Given the description of an element on the screen output the (x, y) to click on. 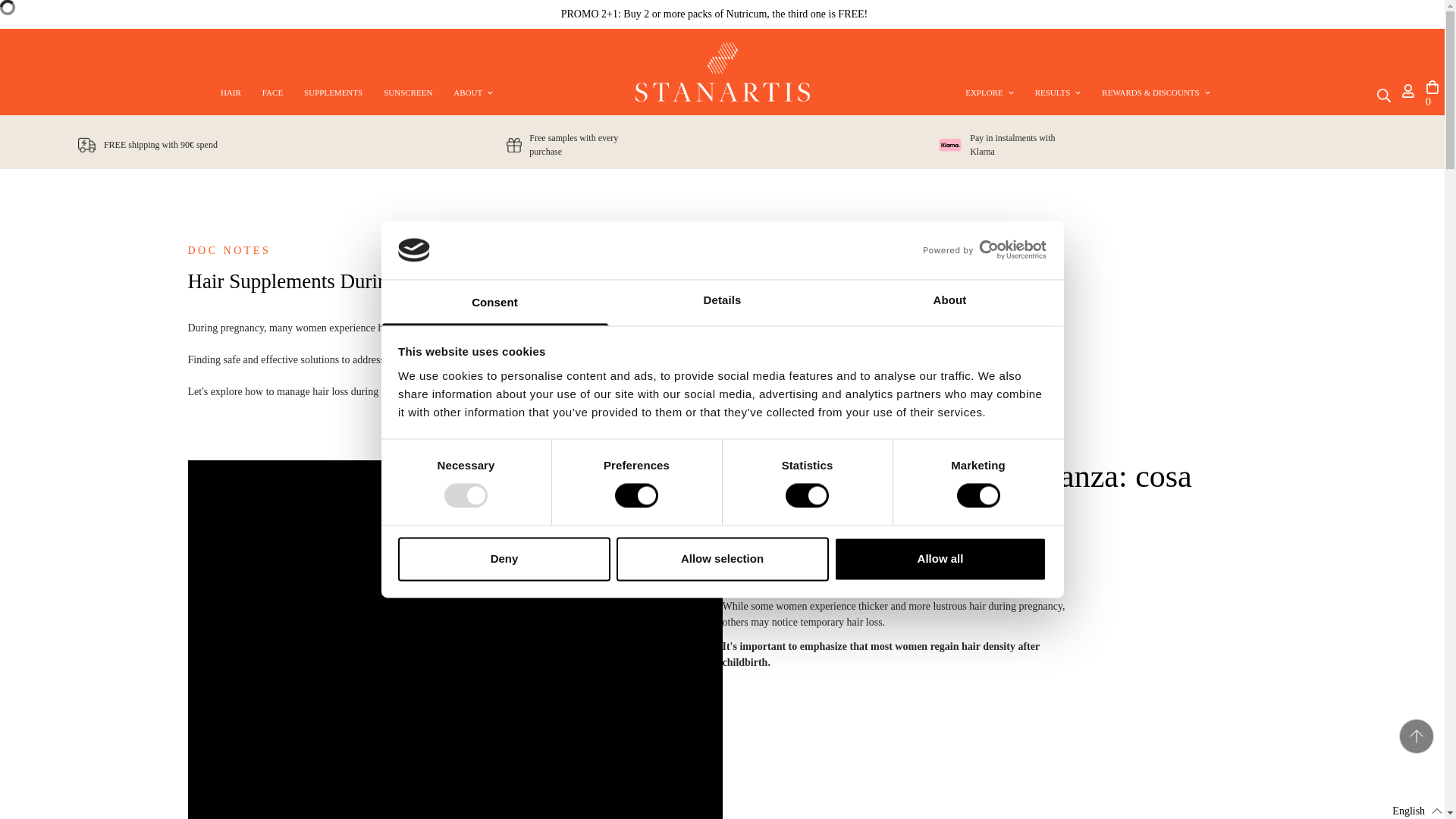
Consent (494, 302)
About (356, 92)
Details (948, 302)
Stanartis (356, 92)
